Given the description of an element on the screen output the (x, y) to click on. 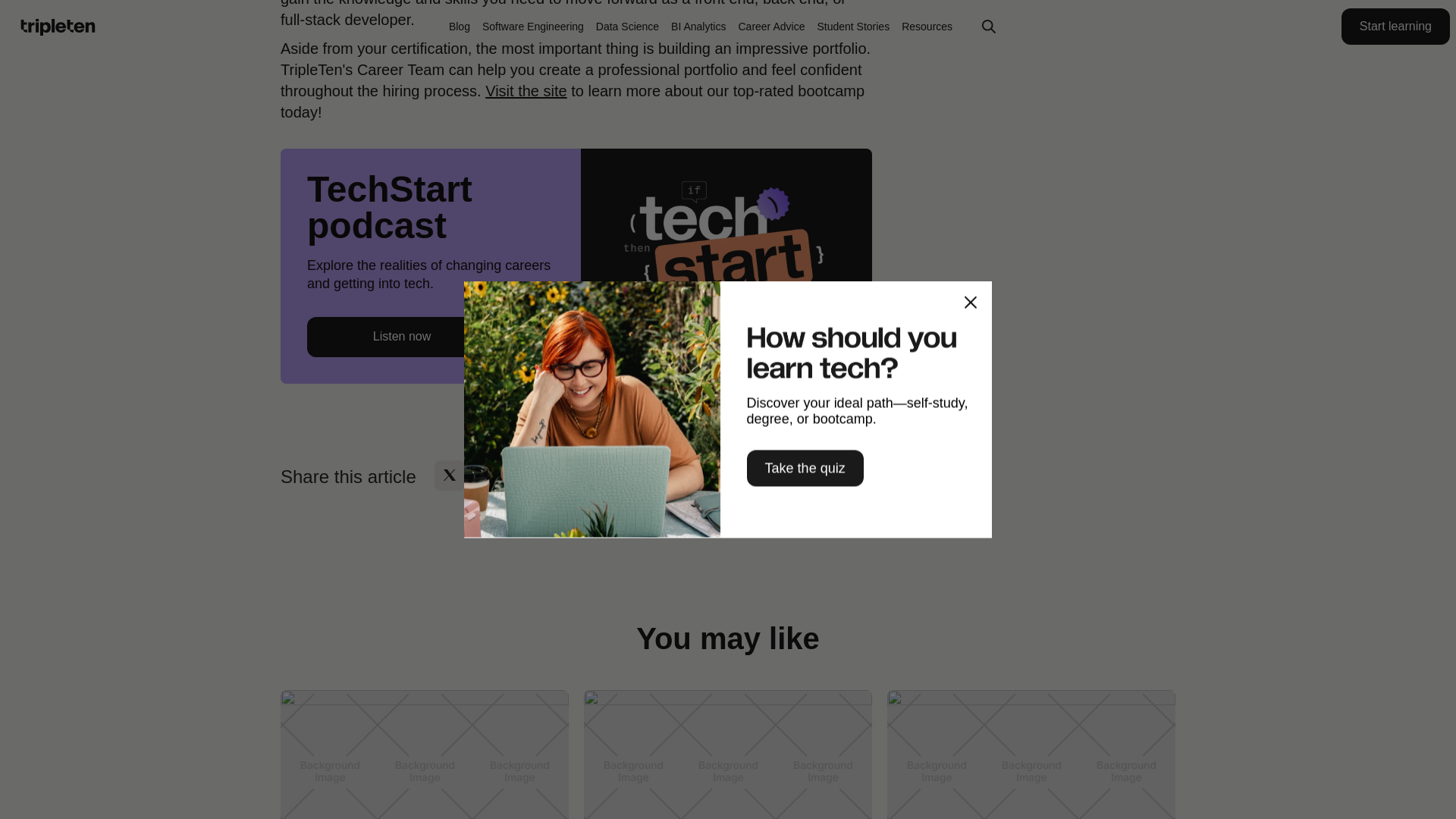
Copy Article Link (568, 474)
